Given the description of an element on the screen output the (x, y) to click on. 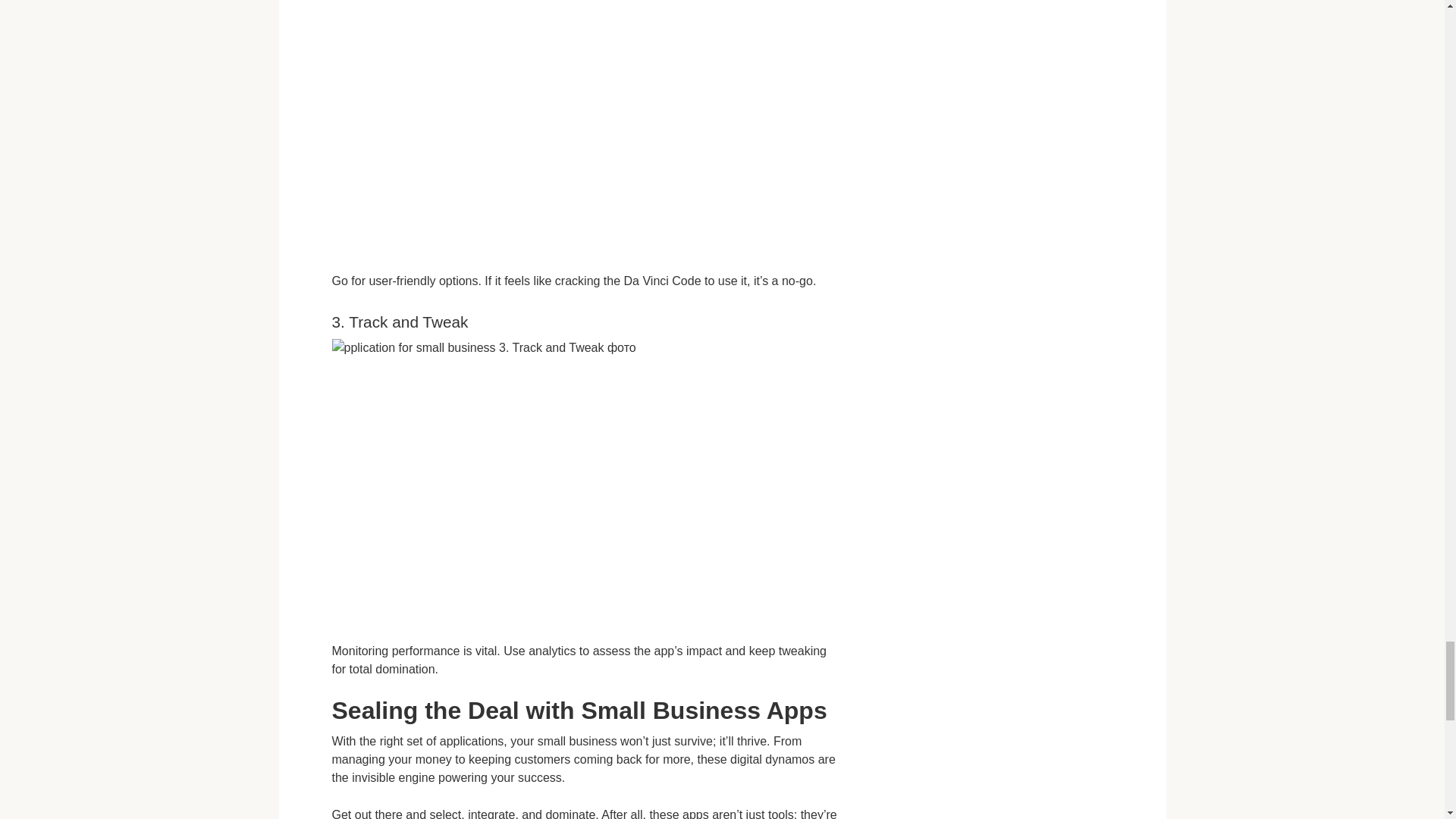
pplication for small business 2. Emphasize Ease-of-Use (585, 126)
